Given the description of an element on the screen output the (x, y) to click on. 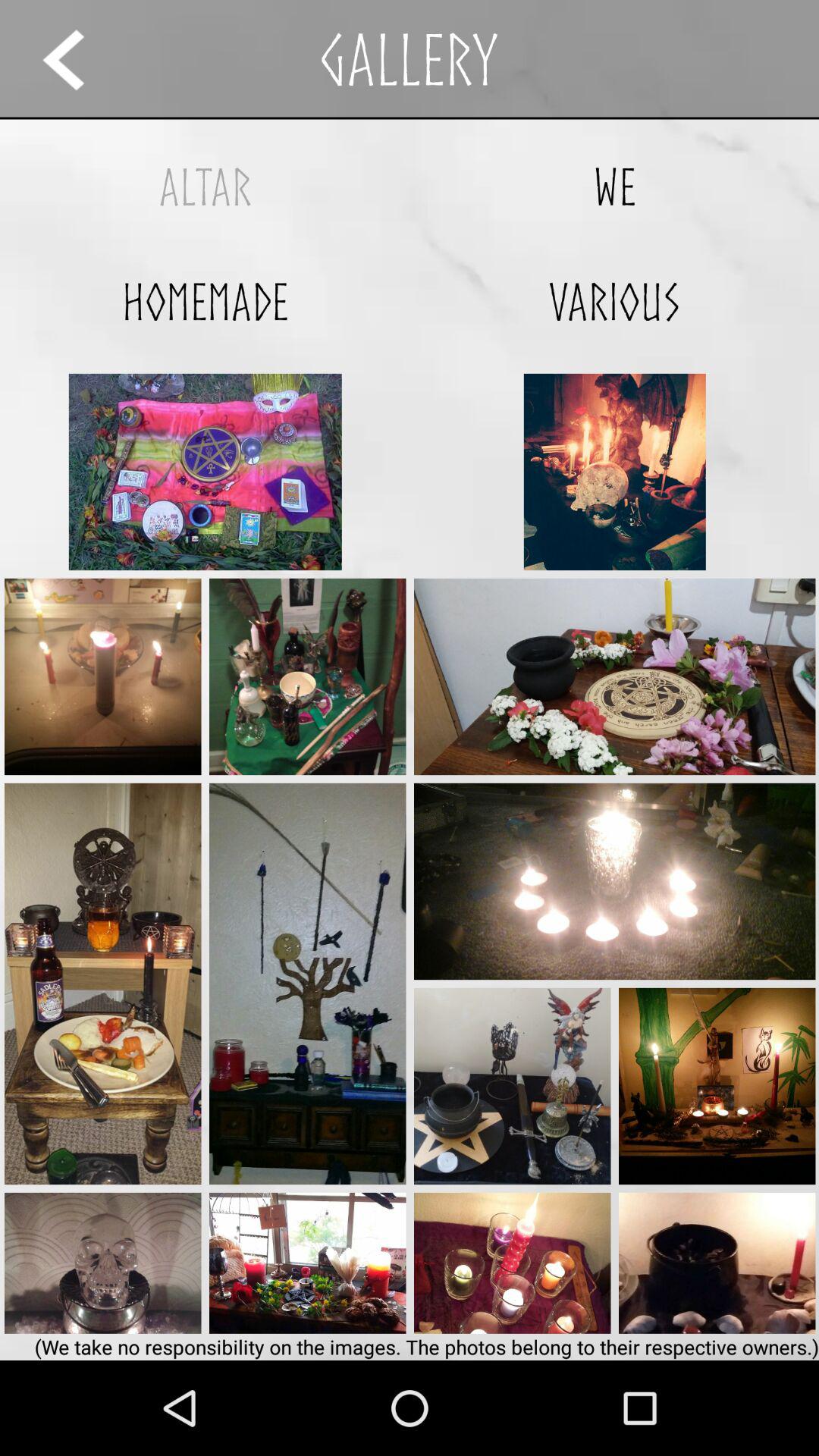
select icon below the we (614, 301)
